Given the description of an element on the screen output the (x, y) to click on. 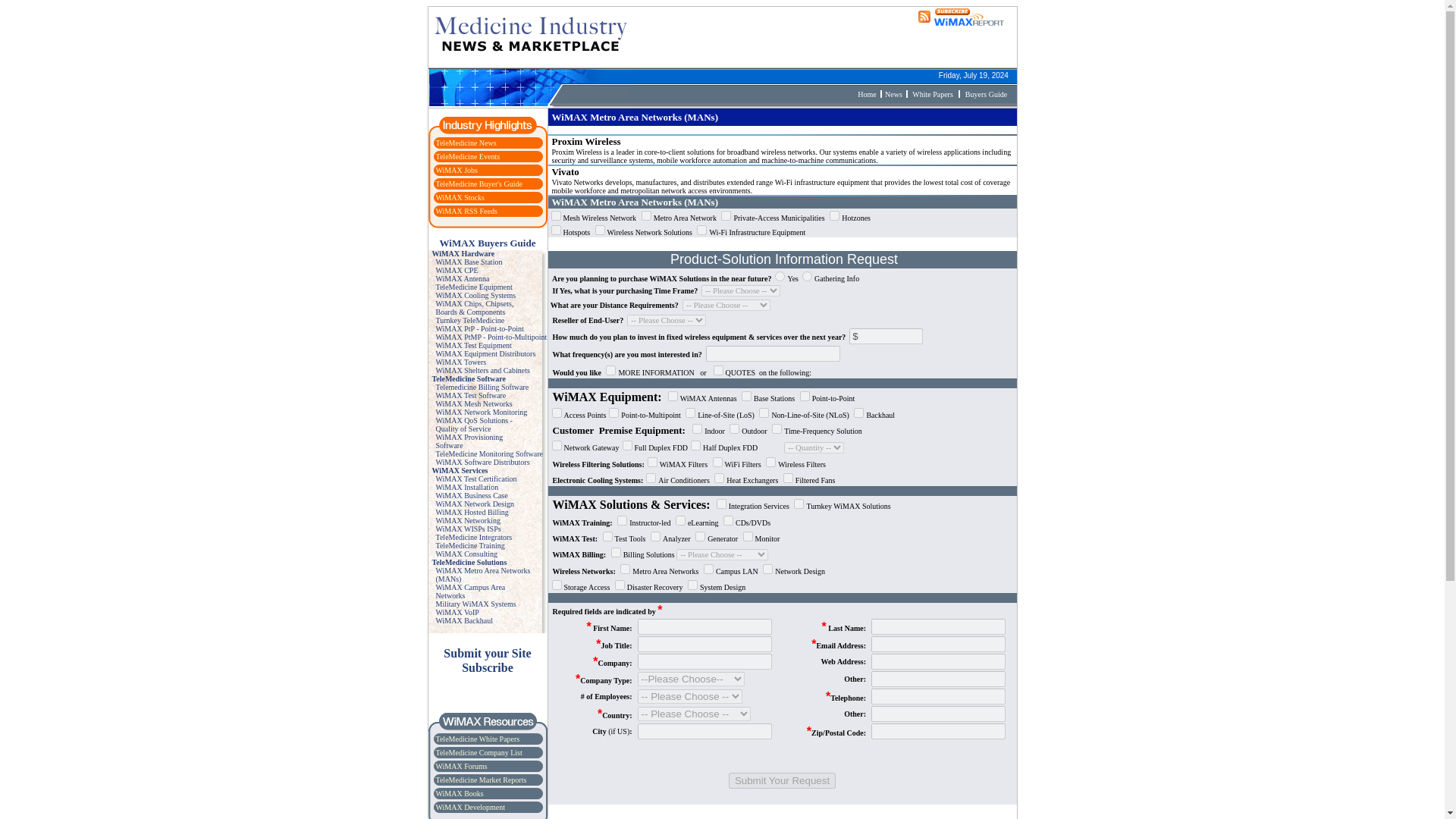
Private-Access Municipalities (725, 215)
WiMAX Jobs (456, 170)
WiMAX PtP - Point-to-Point (478, 328)
WiMAX Test Equipment (473, 345)
Please Send More Information on (610, 370)
Telemedicine Billing Software (481, 387)
TeleMedicine Software (468, 378)
WiMAX Hardware (463, 253)
TeleMedicine Buyer's Guide (478, 183)
WiMAX Towers (460, 361)
New (892, 93)
WiMAX Network Monitoring (481, 411)
Hotzones (834, 215)
